Given the description of an element on the screen output the (x, y) to click on. 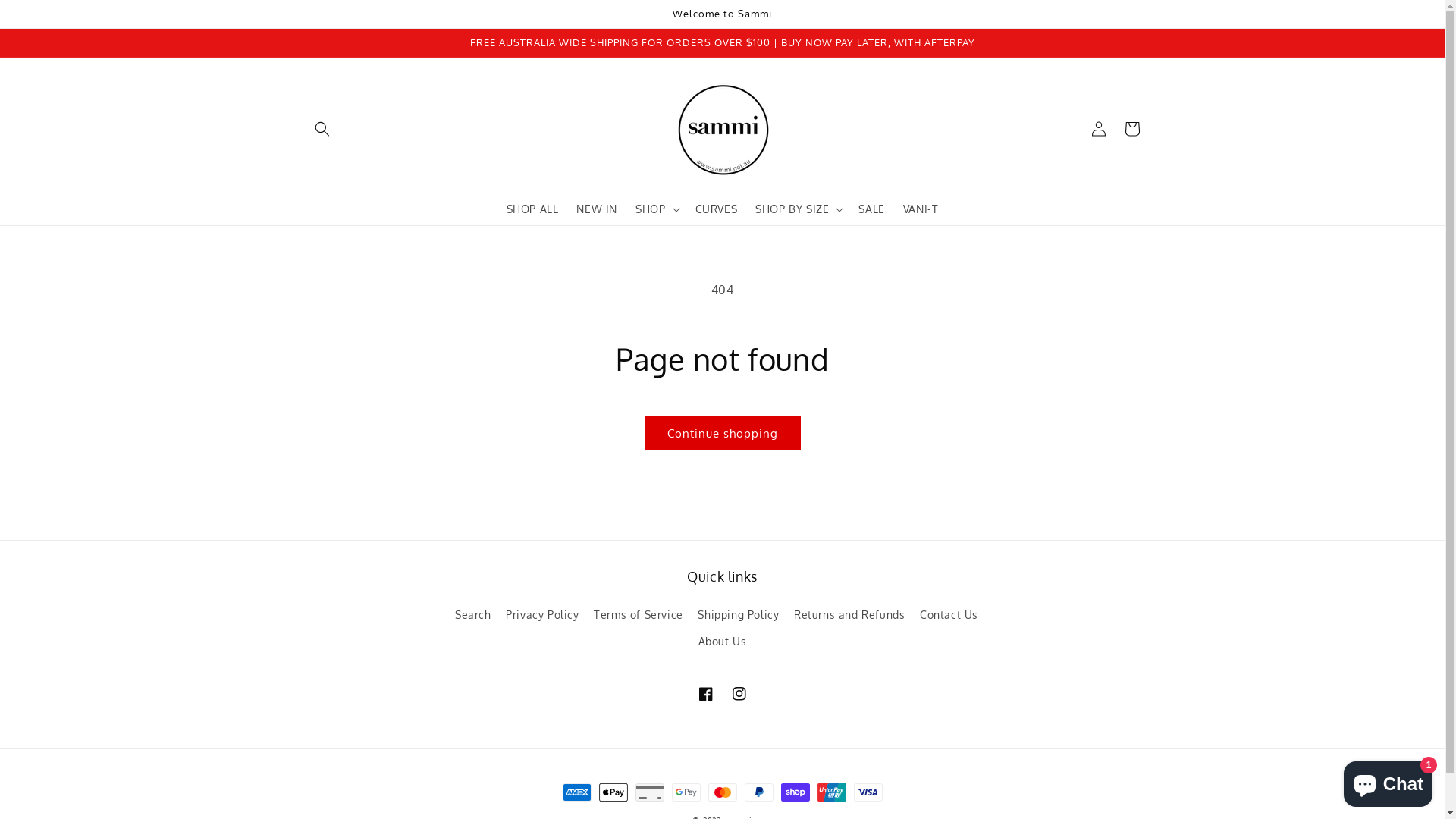
SHOP ALL Element type: text (532, 209)
Continue shopping Element type: text (722, 433)
Cart Element type: text (1131, 128)
Shipping Policy Element type: text (737, 614)
Search Element type: text (473, 616)
Contact Us Element type: text (948, 614)
VANI-T Element type: text (920, 209)
Privacy Policy Element type: text (541, 614)
Terms of Service Element type: text (638, 614)
CURVES Element type: text (715, 209)
Facebook Element type: text (704, 693)
Instagram Element type: text (738, 693)
SALE Element type: text (871, 209)
About Us Element type: text (722, 640)
NEW IN Element type: text (596, 209)
Shopify online store chat Element type: hover (1388, 780)
Returns and Refunds Element type: text (848, 614)
Log in Element type: text (1097, 128)
